Given the description of an element on the screen output the (x, y) to click on. 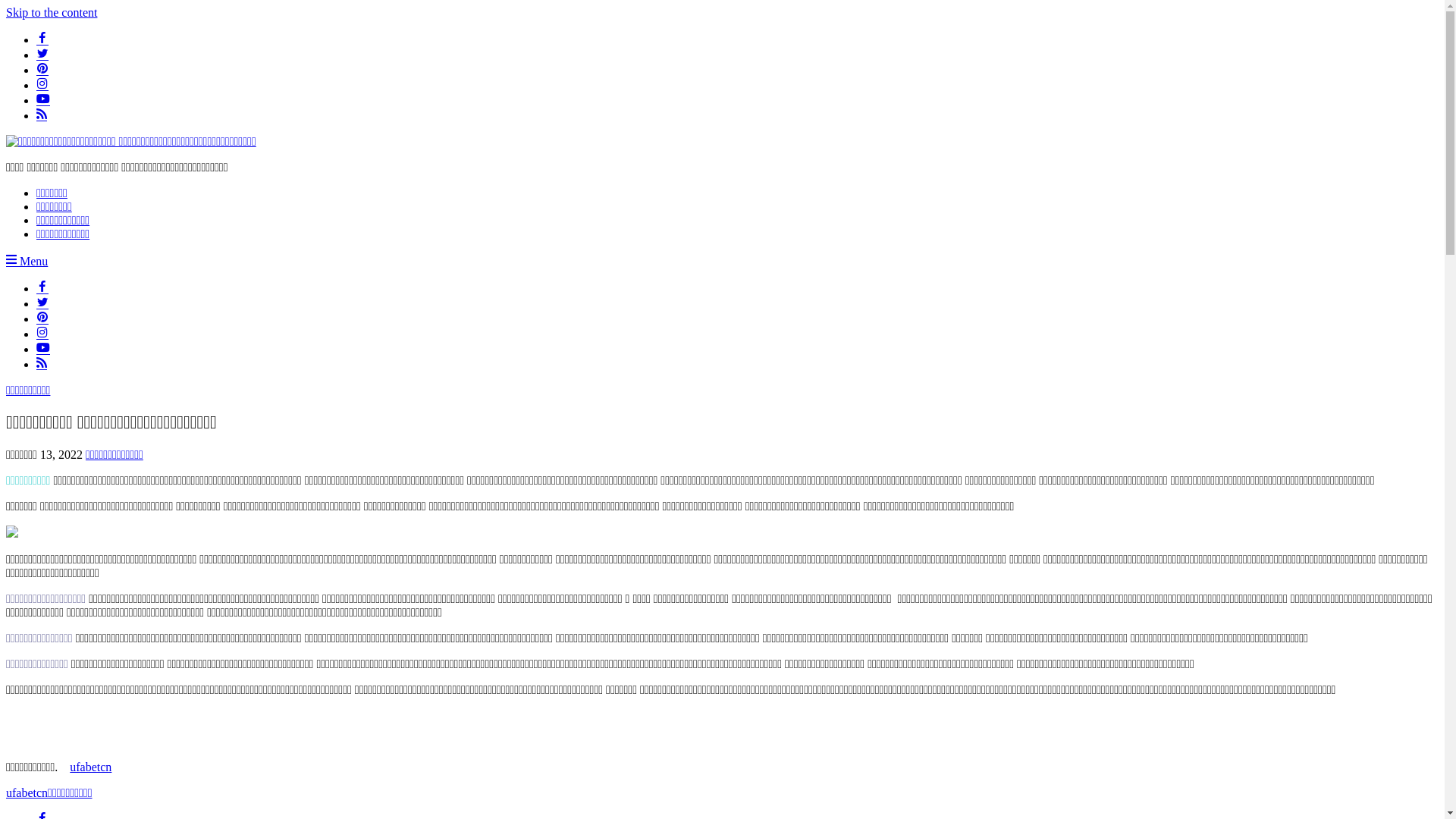
ufabetcn Element type: text (26, 792)
Skip to the content Element type: text (51, 12)
ufabetcn Element type: text (90, 766)
Menu Element type: text (26, 260)
